Given the description of an element on the screen output the (x, y) to click on. 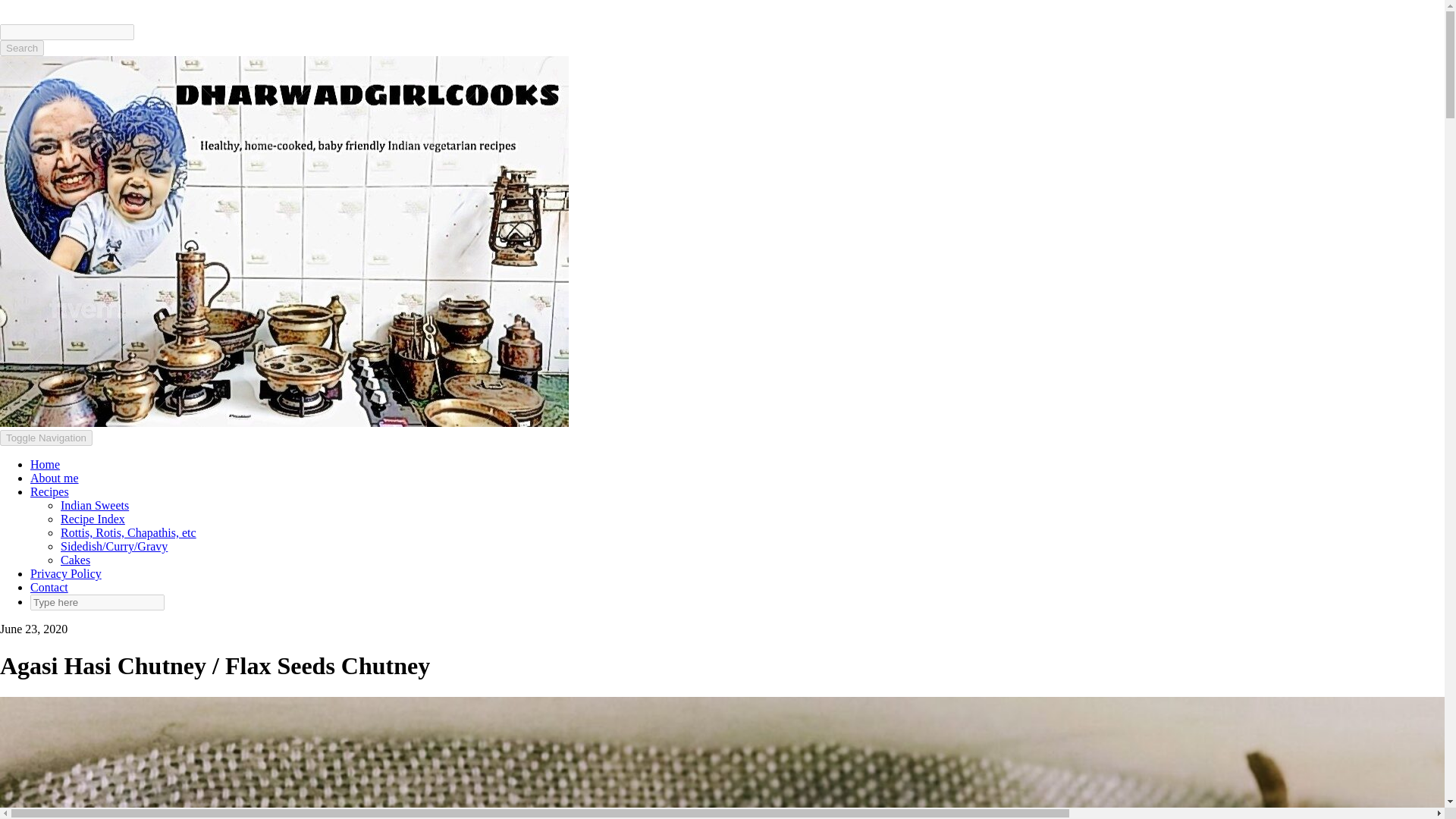
Cakes (75, 559)
Search (21, 48)
Instagram (31, 6)
Recipe Index (93, 518)
Rottis, Rotis, Chapathis, etc (128, 532)
Recipes (49, 491)
Contact (49, 586)
Facebook (10, 6)
Toggle Navigation (46, 437)
Instagram (31, 6)
Privacy Policy (65, 573)
Home (44, 463)
Facebook (10, 6)
Indian Sweets (95, 504)
About me (54, 477)
